Given the description of an element on the screen output the (x, y) to click on. 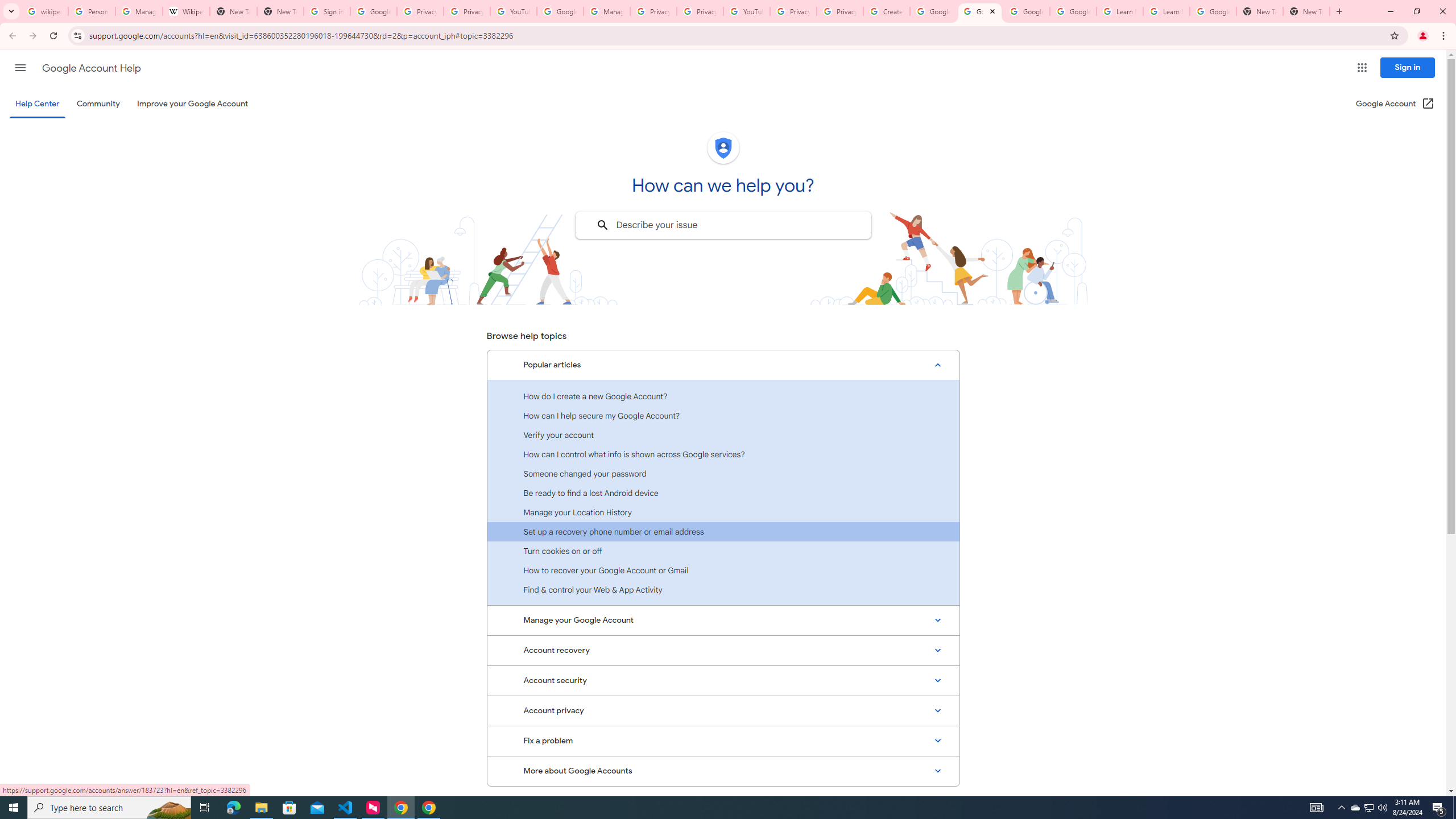
Google Account (Open in a new window) (1395, 103)
Google Account Help (980, 11)
Google Account Help (91, 68)
Google Drive: Sign-in (373, 11)
Verify your account (722, 434)
Be ready to find a lost Android device (722, 492)
Account privacy (722, 710)
Describe your issue to find information that might help you. (722, 225)
YouTube (745, 11)
Manage your Location History - Google Search Help (138, 11)
